Given the description of an element on the screen output the (x, y) to click on. 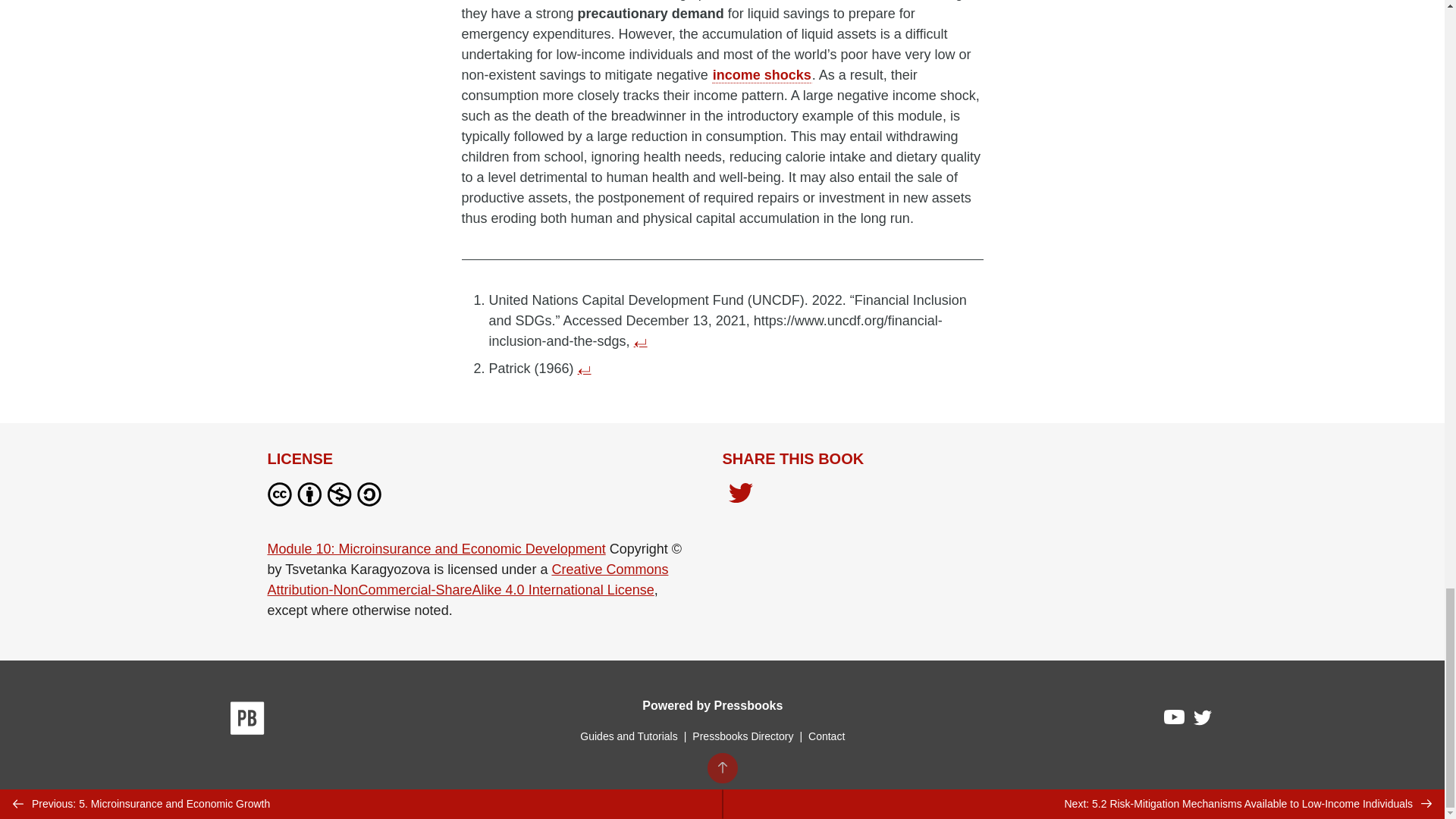
Module 10: Microinsurance and Economic Development (435, 548)
Pressbooks Directory (742, 736)
Powered by Pressbooks (712, 705)
Pressbooks on YouTube (1174, 721)
Share on Twitter (740, 494)
Share on Twitter (740, 496)
income shocks (761, 74)
Guides and Tutorials (627, 736)
Contact (826, 736)
